Given the description of an element on the screen output the (x, y) to click on. 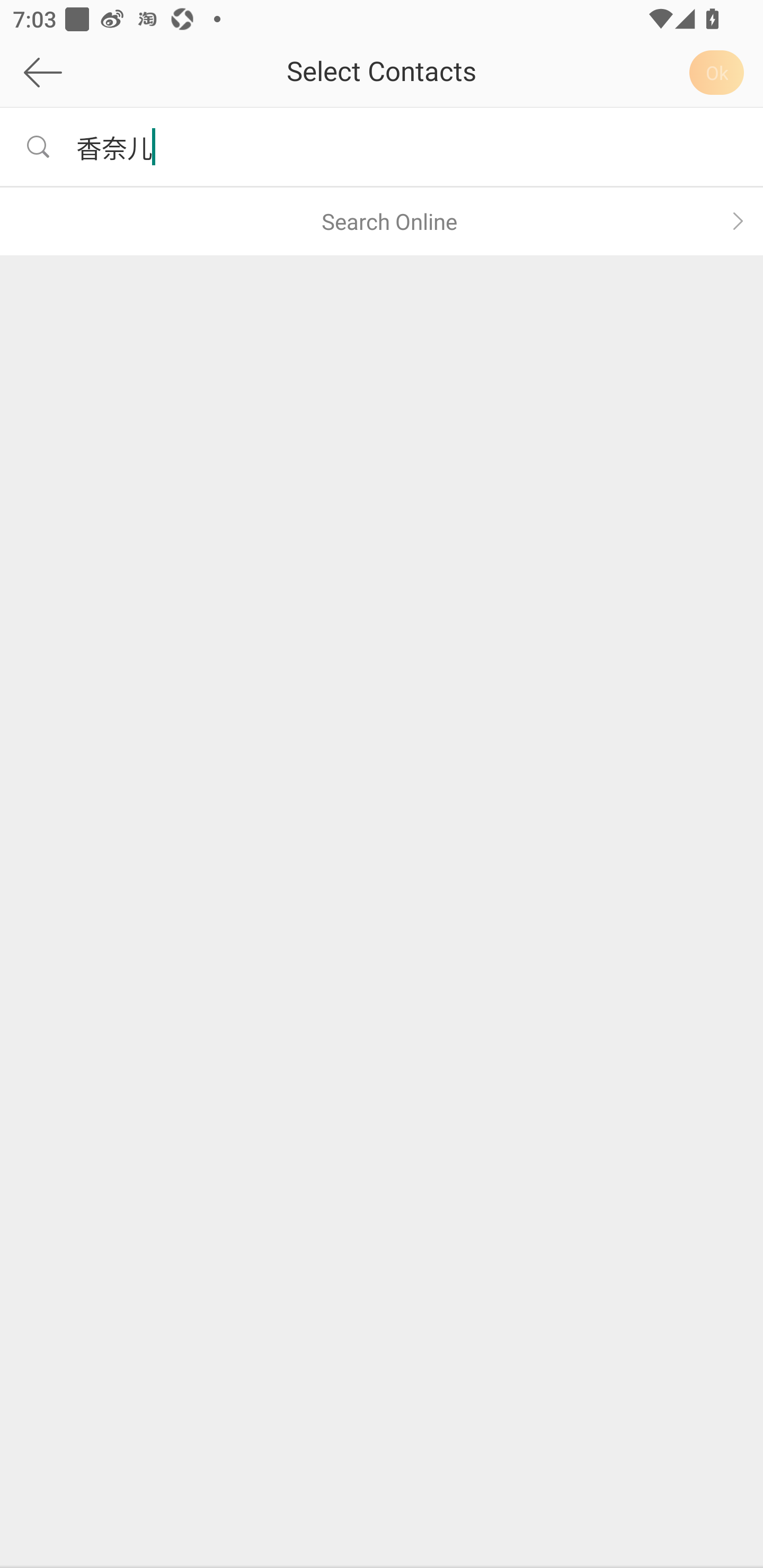
Back (92, 71)
Ok (719, 71)
香奈儿 (406, 146)
Search Online (381, 220)
